Given the description of an element on the screen output the (x, y) to click on. 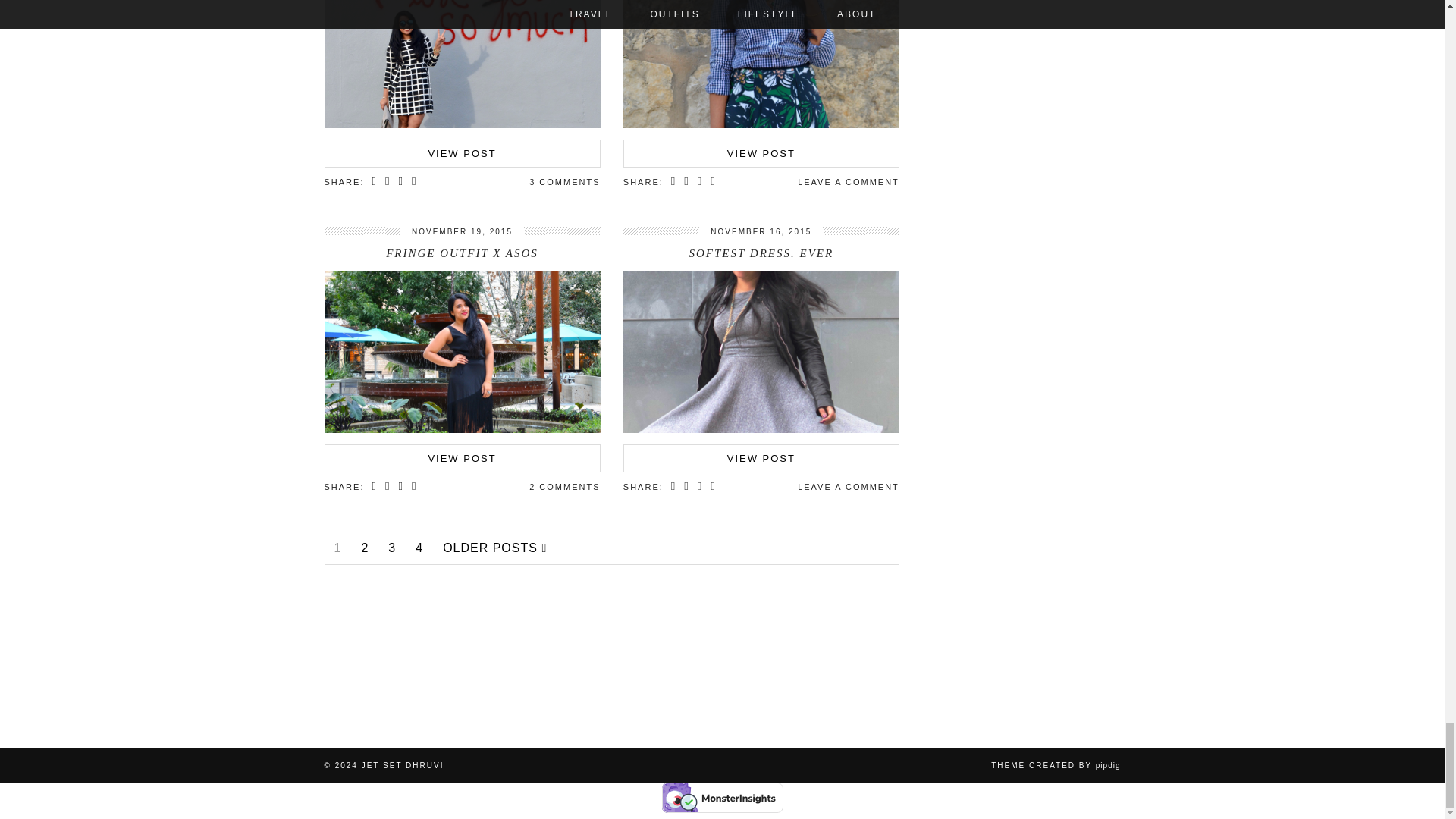
Share on Twitter (387, 182)
Share on Pinterest (400, 182)
Share on tumblr (413, 182)
Share on Facebook (374, 182)
